Given the description of an element on the screen output the (x, y) to click on. 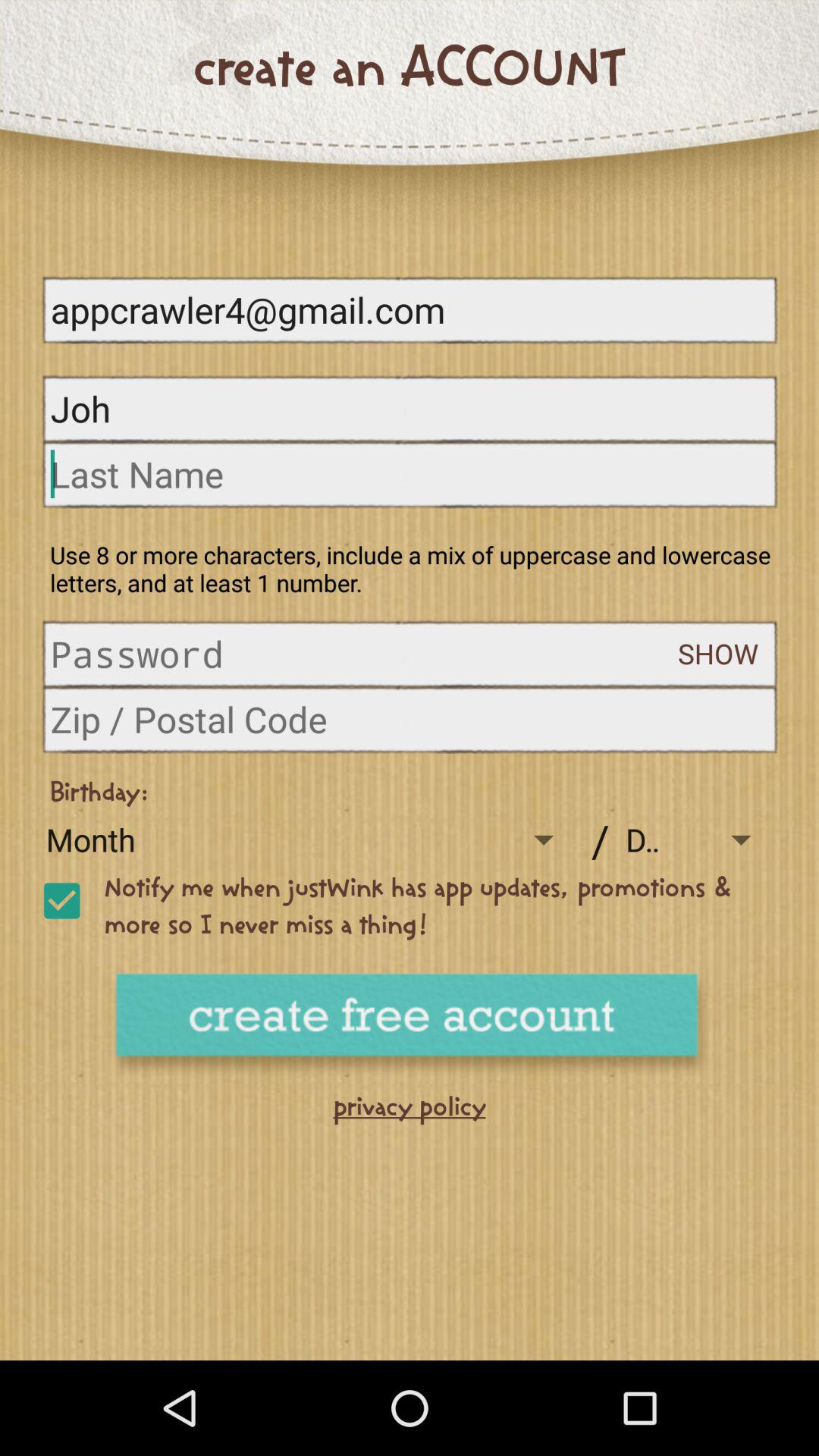
activate notification for update and promotion (61, 900)
